Given the description of an element on the screen output the (x, y) to click on. 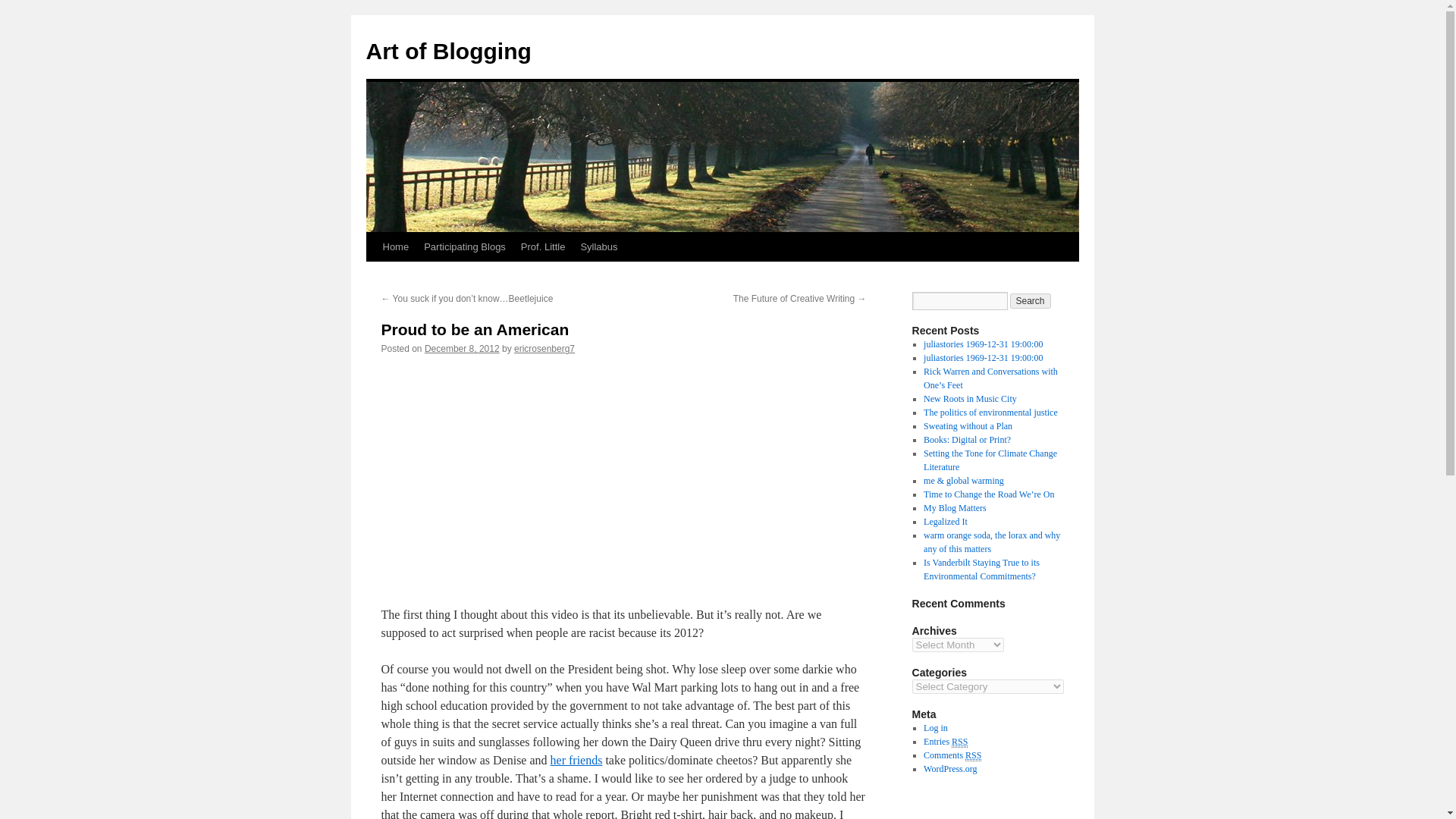
Search (1030, 300)
ericrosenberg7 (544, 348)
Participating Blogs (464, 246)
Prof. Little (543, 246)
warm orange soda, the lorax and why any of this matters (991, 541)
Comments RSS (952, 755)
Entries RSS (945, 741)
Sweating without a Plan (967, 425)
juliastories 1969-12-31 19:00:00 (982, 357)
Art of Blogging (448, 50)
her friends (576, 759)
Really Simple Syndication (973, 755)
Really Simple Syndication (960, 741)
juliastories 1969-12-31 19:00:00 (982, 344)
Books: Digital or Print? (966, 439)
